Given the description of an element on the screen output the (x, y) to click on. 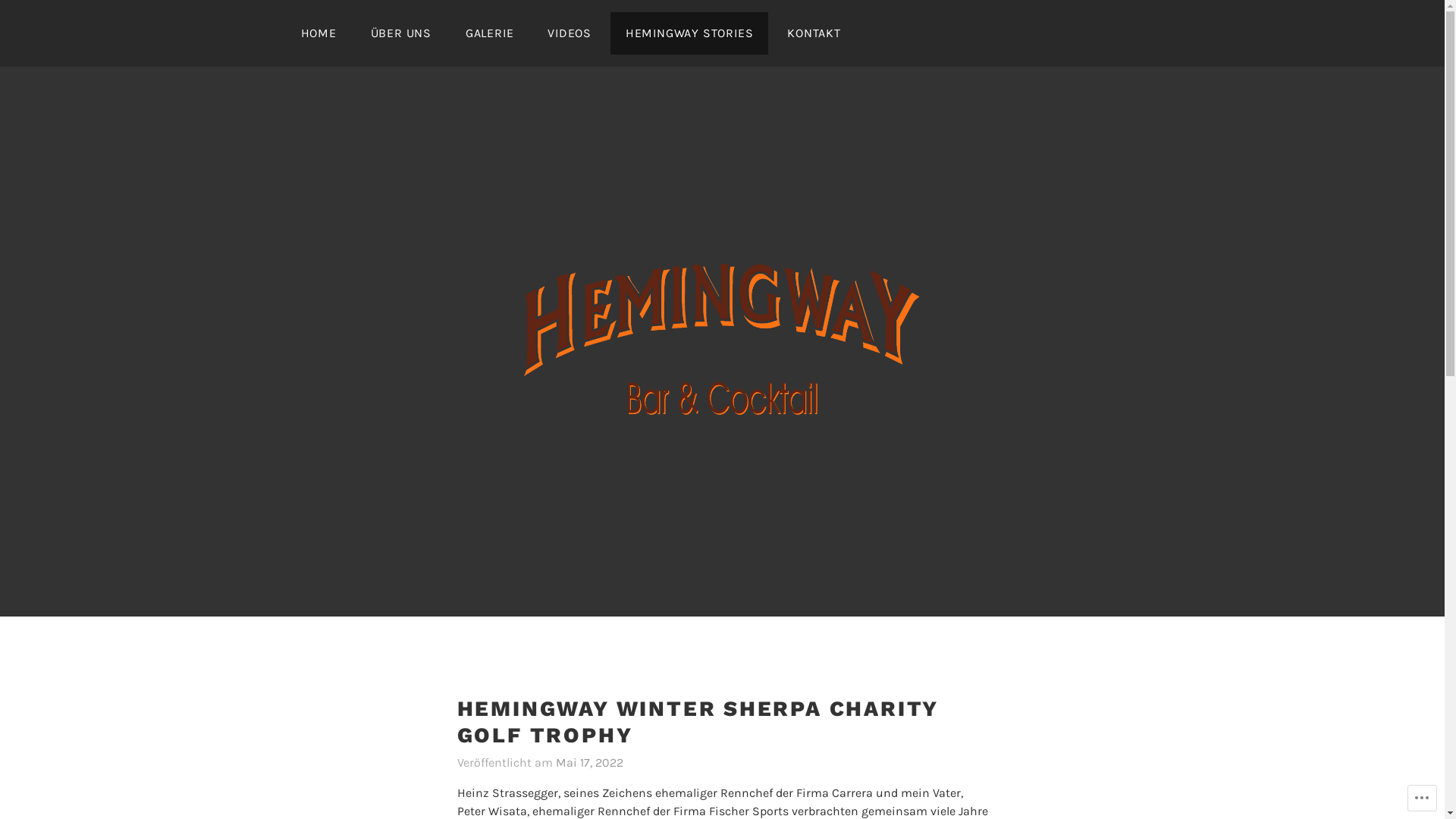
HOME Element type: text (318, 33)
HEMINGWAY STORIES Element type: text (689, 33)
KONTAKT Element type: text (813, 33)
GALERIE Element type: text (489, 33)
VIDEOS Element type: text (569, 33)
Mai 17, 2022 Element type: text (588, 763)
HEMINGWAY Element type: text (684, 453)
HEMINGWAY WINTER SHERPA CHARITY GOLF TROPHY Element type: text (697, 722)
